Given the description of an element on the screen output the (x, y) to click on. 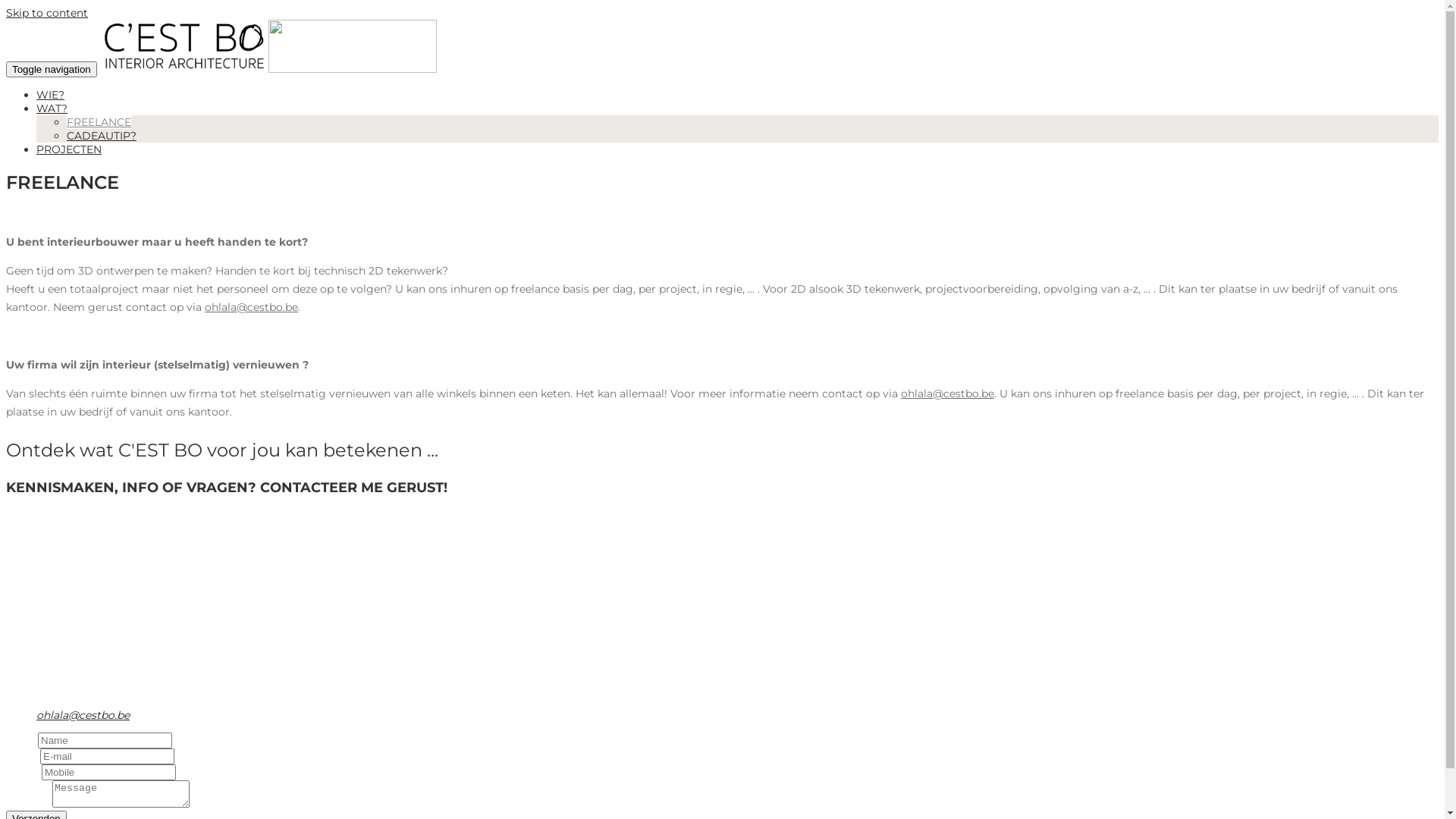
ohlala@cestbo.be Element type: text (947, 393)
PROJECTEN Element type: text (68, 149)
Skip to content Element type: text (46, 12)
CADEAUTIP? Element type: text (101, 135)
WIE? Element type: text (50, 94)
FREELANCE Element type: text (98, 121)
ohlala@cestbo.be Element type: text (82, 714)
WAT? Element type: text (51, 108)
Toggle navigation Element type: text (51, 69)
ohlala@cestbo.be Element type: text (251, 306)
